Given the description of an element on the screen output the (x, y) to click on. 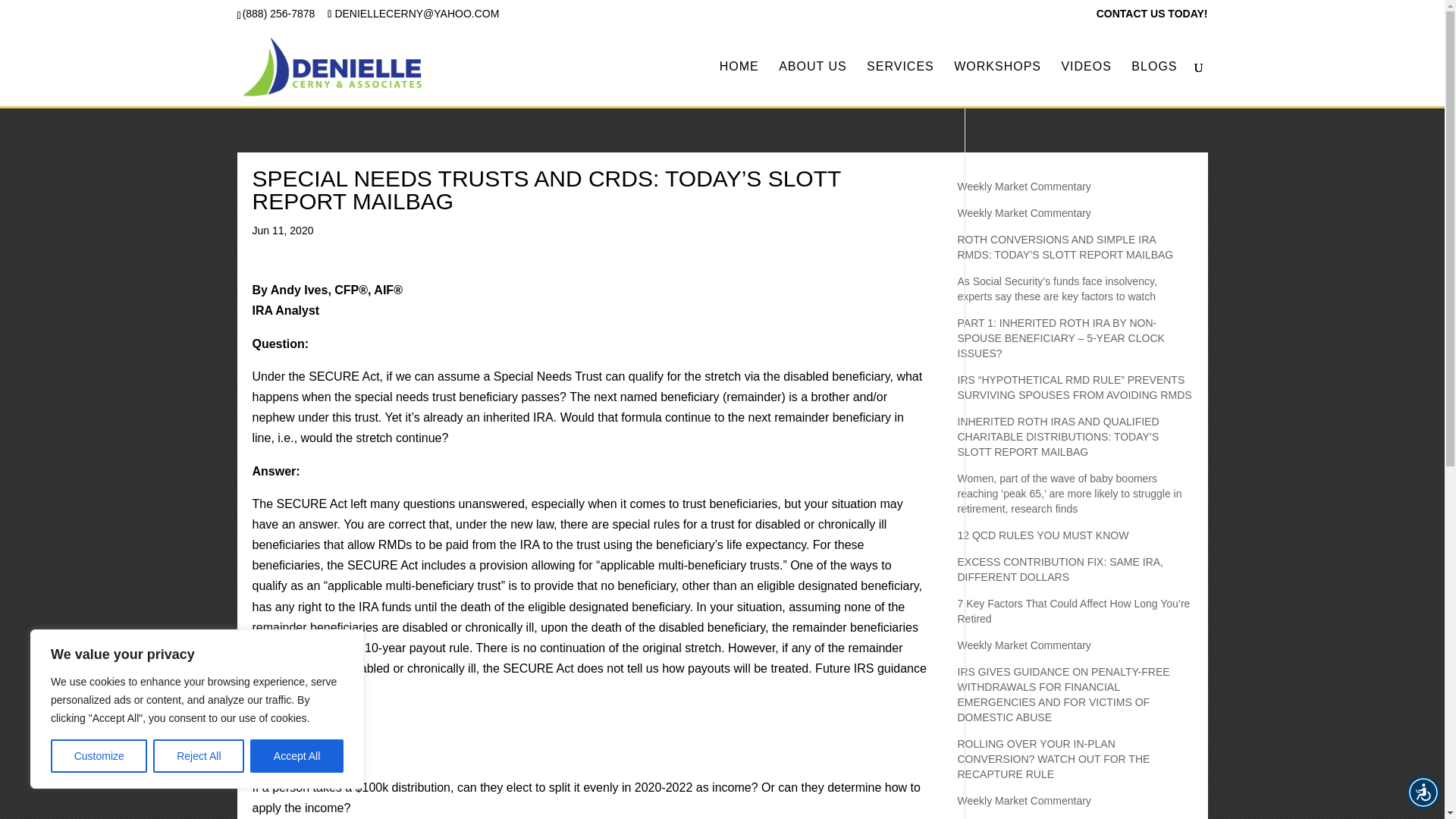
Accept All (296, 756)
ABOUT US (812, 83)
Accessibility Menu (1422, 792)
SERVICES (900, 83)
BLOGS (1153, 83)
Reject All (198, 756)
Customize (98, 756)
VIDEOS (1085, 83)
WORKSHOPS (997, 83)
12 QCD RULES YOU MUST KNOW (1042, 535)
HOME (738, 83)
Weekly Market Commentary (1023, 213)
Weekly Market Commentary (1023, 186)
EXCESS CONTRIBUTION FIX: SAME IRA, DIFFERENT DOLLARS (1058, 569)
CONTACT US TODAY! (1152, 16)
